Given the description of an element on the screen output the (x, y) to click on. 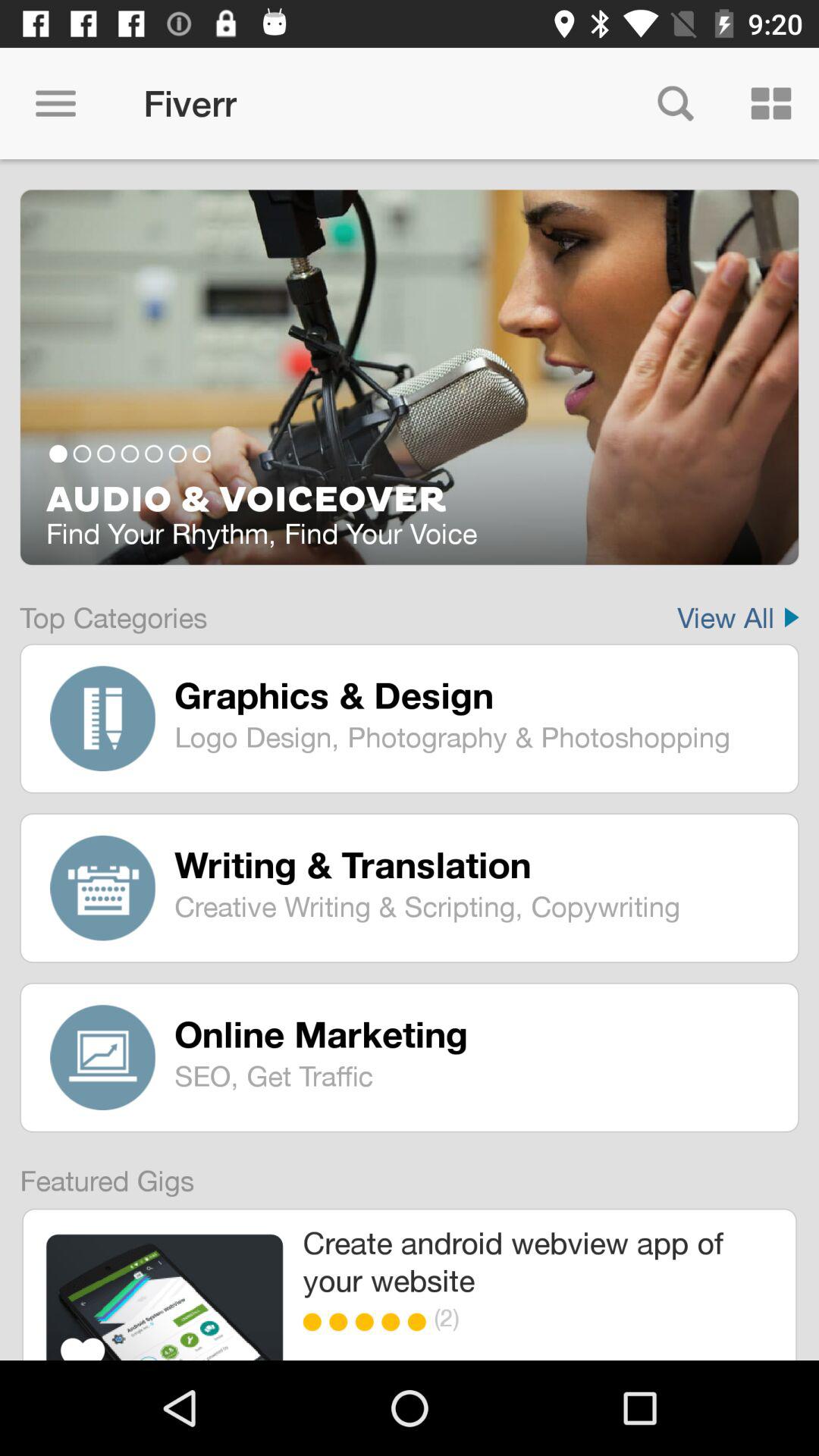
click item above top categories item (409, 500)
